Given the description of an element on the screen output the (x, y) to click on. 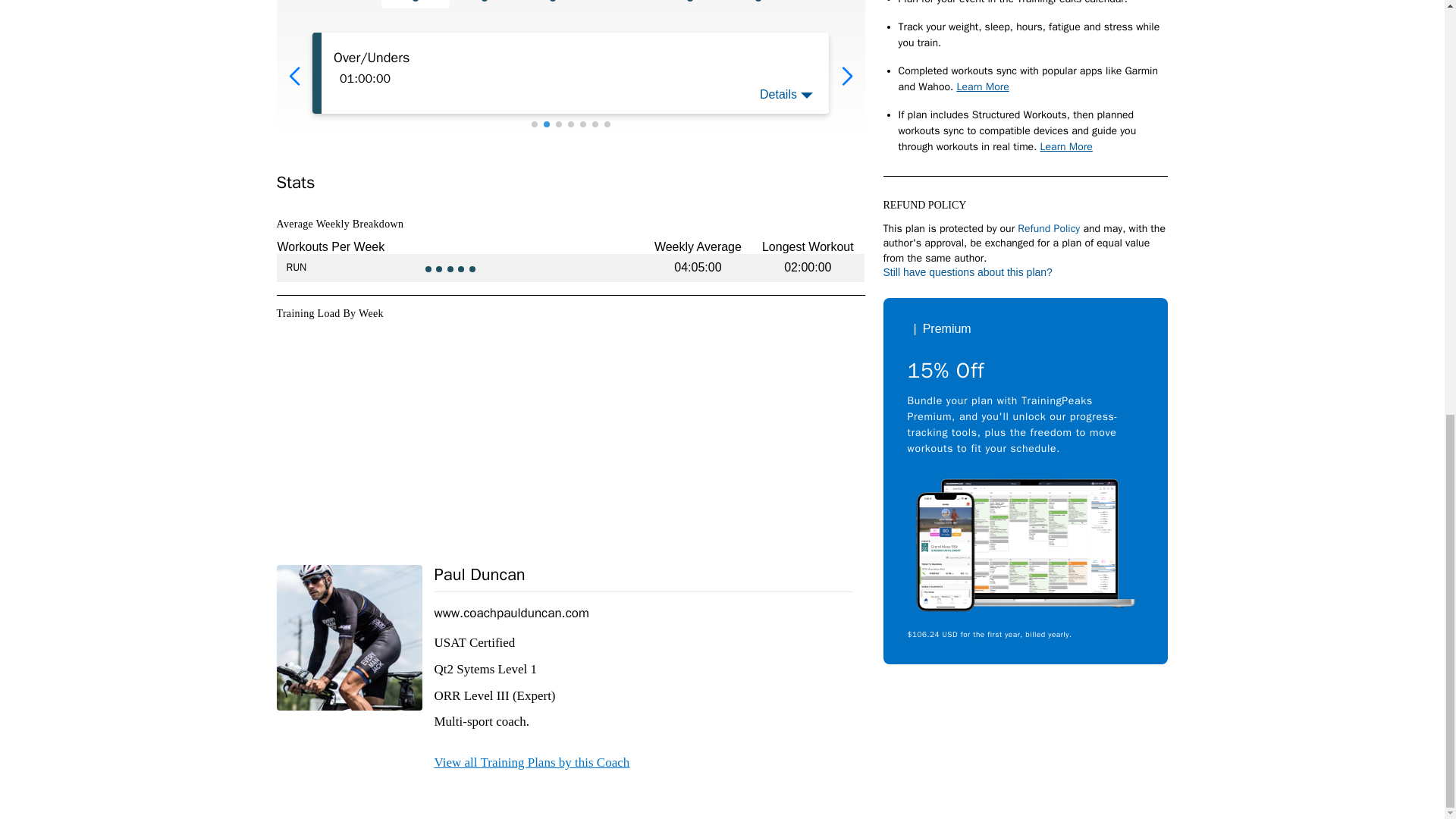
View all Training Plans by this Coach (530, 762)
